Given the description of an element on the screen output the (x, y) to click on. 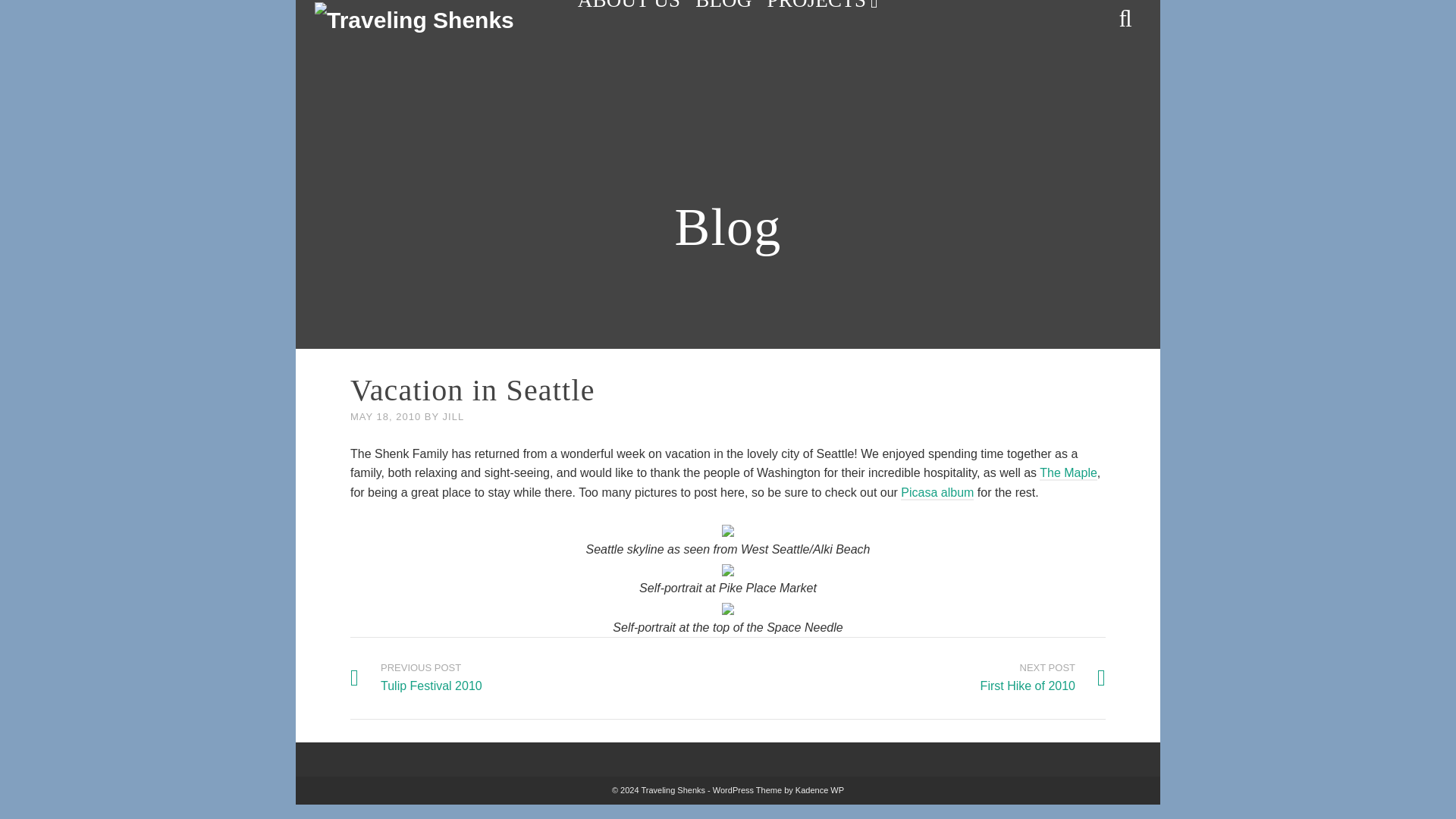
JILL (415, 677)
Picasa album (453, 416)
BLOG (937, 493)
PROJECTS (722, 9)
ABOUT US (823, 9)
Kadence WP (1042, 677)
The Maple (628, 9)
